Given the description of an element on the screen output the (x, y) to click on. 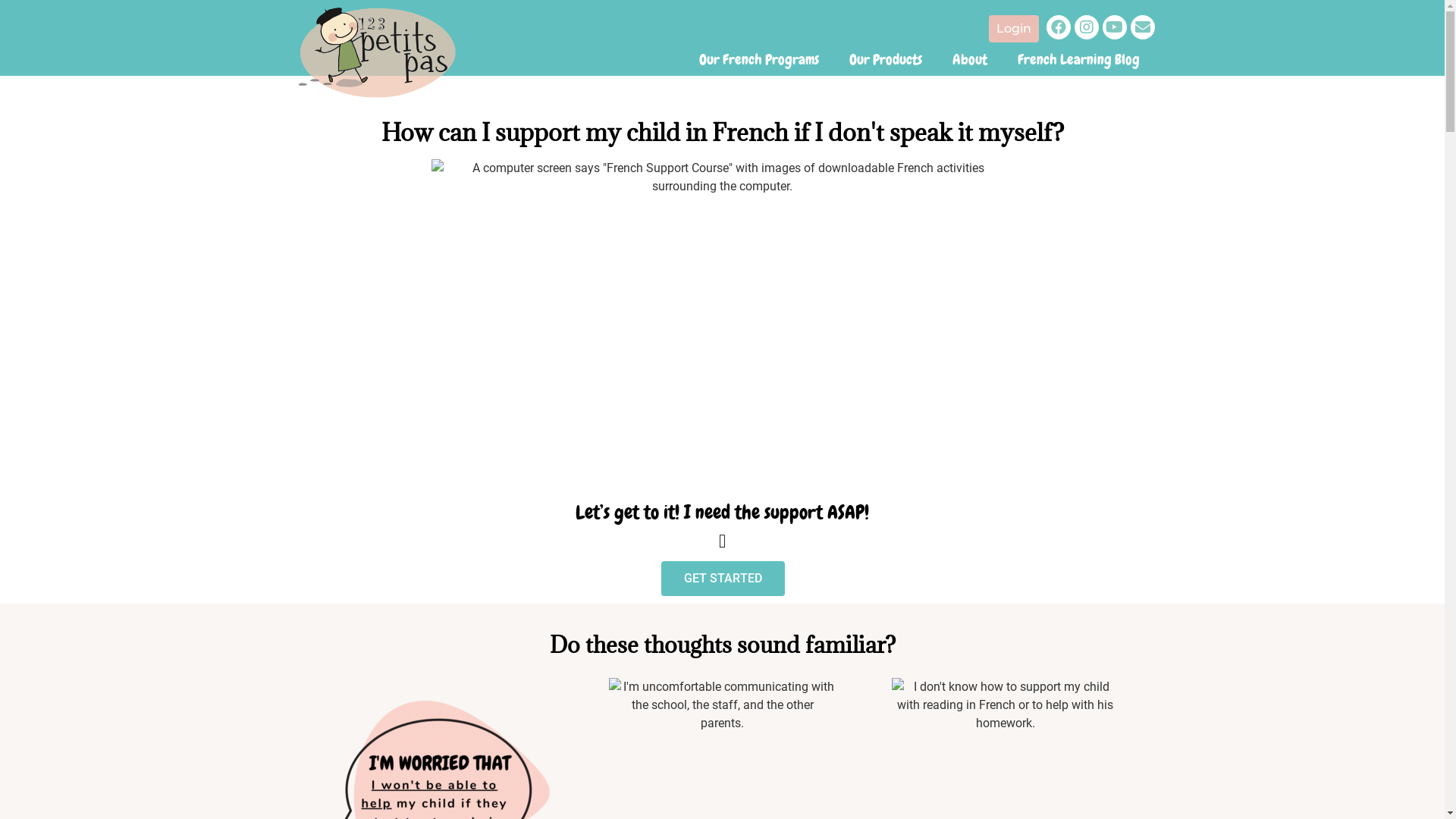
French Learning Blog Element type: text (1078, 59)
GET STARTED Element type: text (722, 578)
About Element type: text (969, 59)
Login Element type: text (1013, 28)
Our French Programs Element type: text (759, 59)
Our Products Element type: text (885, 59)
